Given the description of an element on the screen output the (x, y) to click on. 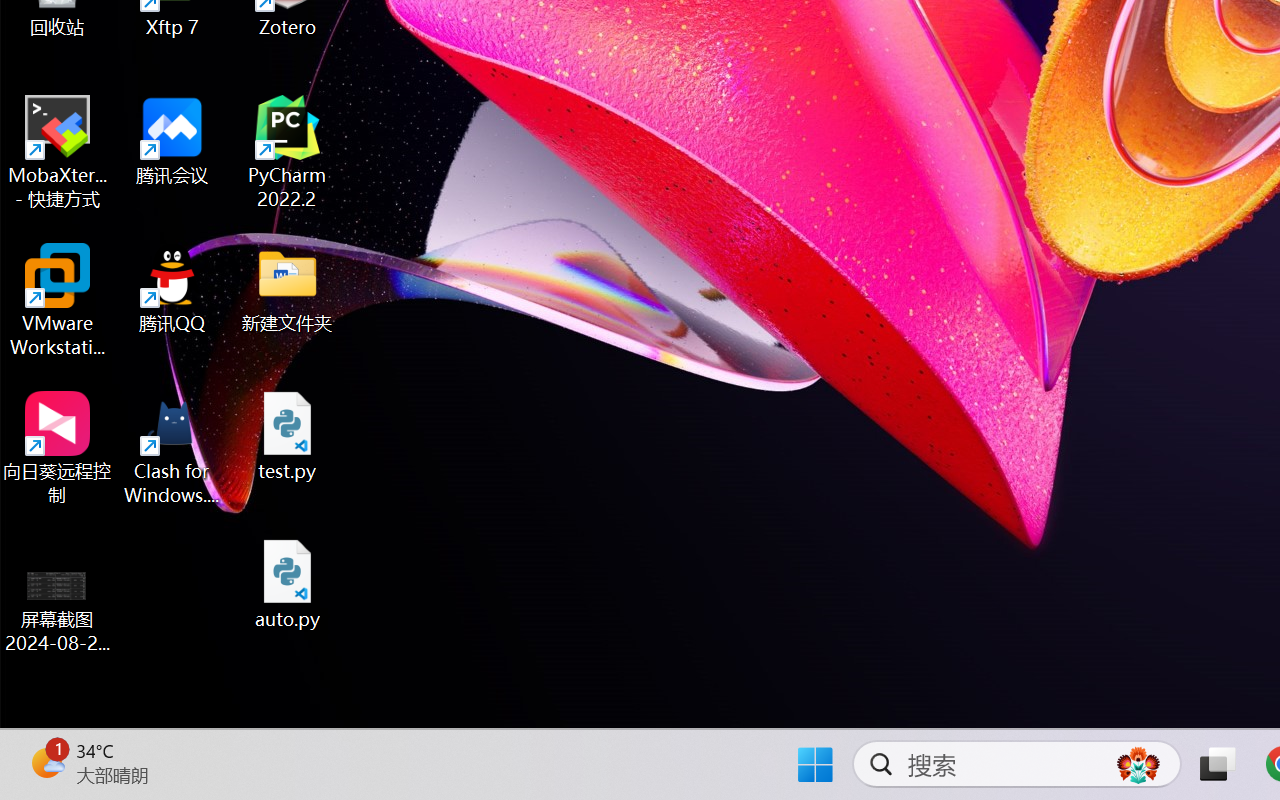
PyCharm 2022.2 (287, 152)
test.py (287, 436)
auto.py (287, 584)
